Given the description of an element on the screen output the (x, y) to click on. 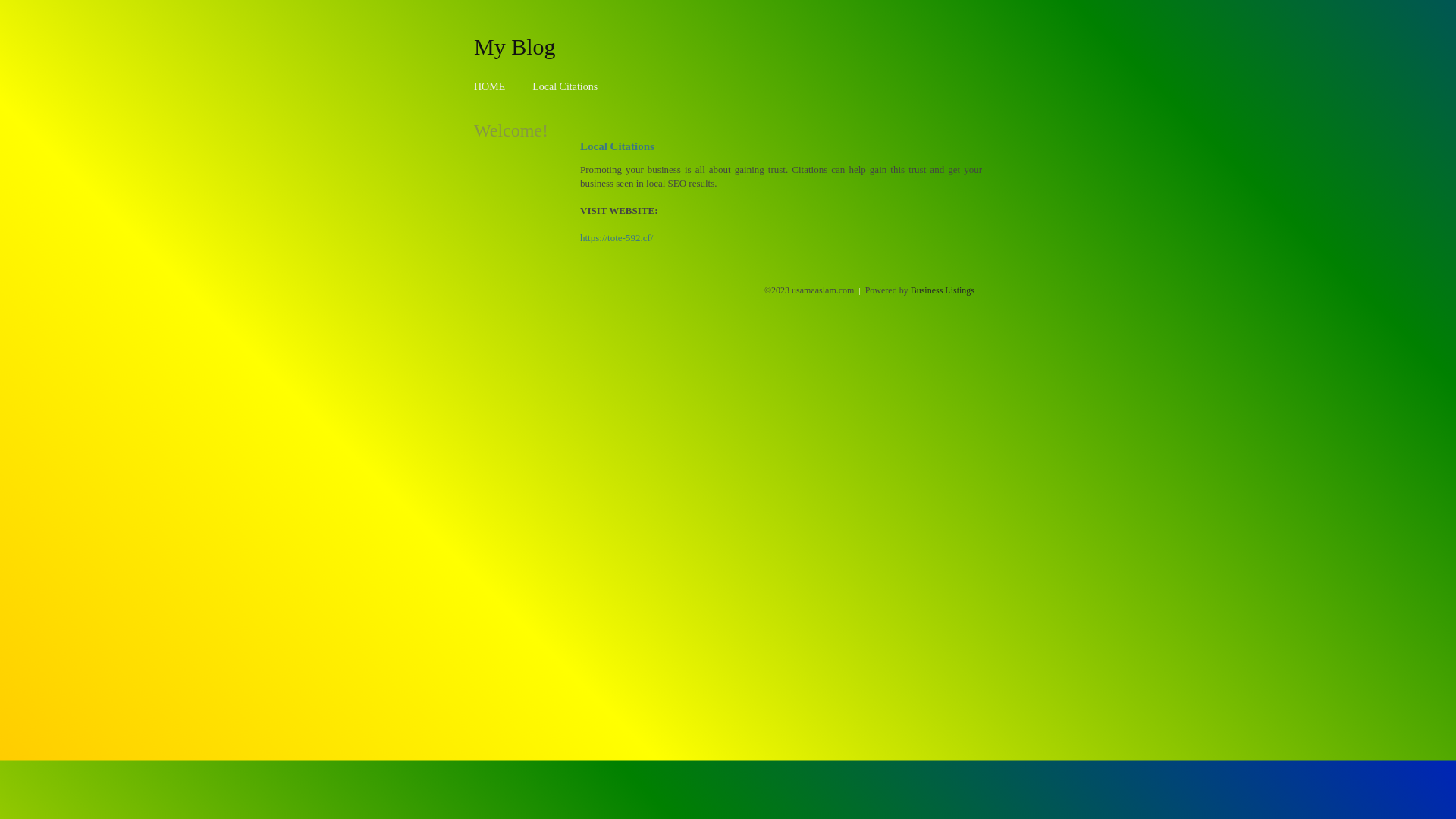
HOME Element type: text (489, 86)
Business Listings Element type: text (942, 290)
https://tote-592.cf/ Element type: text (616, 237)
Local Citations Element type: text (564, 86)
My Blog Element type: text (514, 46)
